Given the description of an element on the screen output the (x, y) to click on. 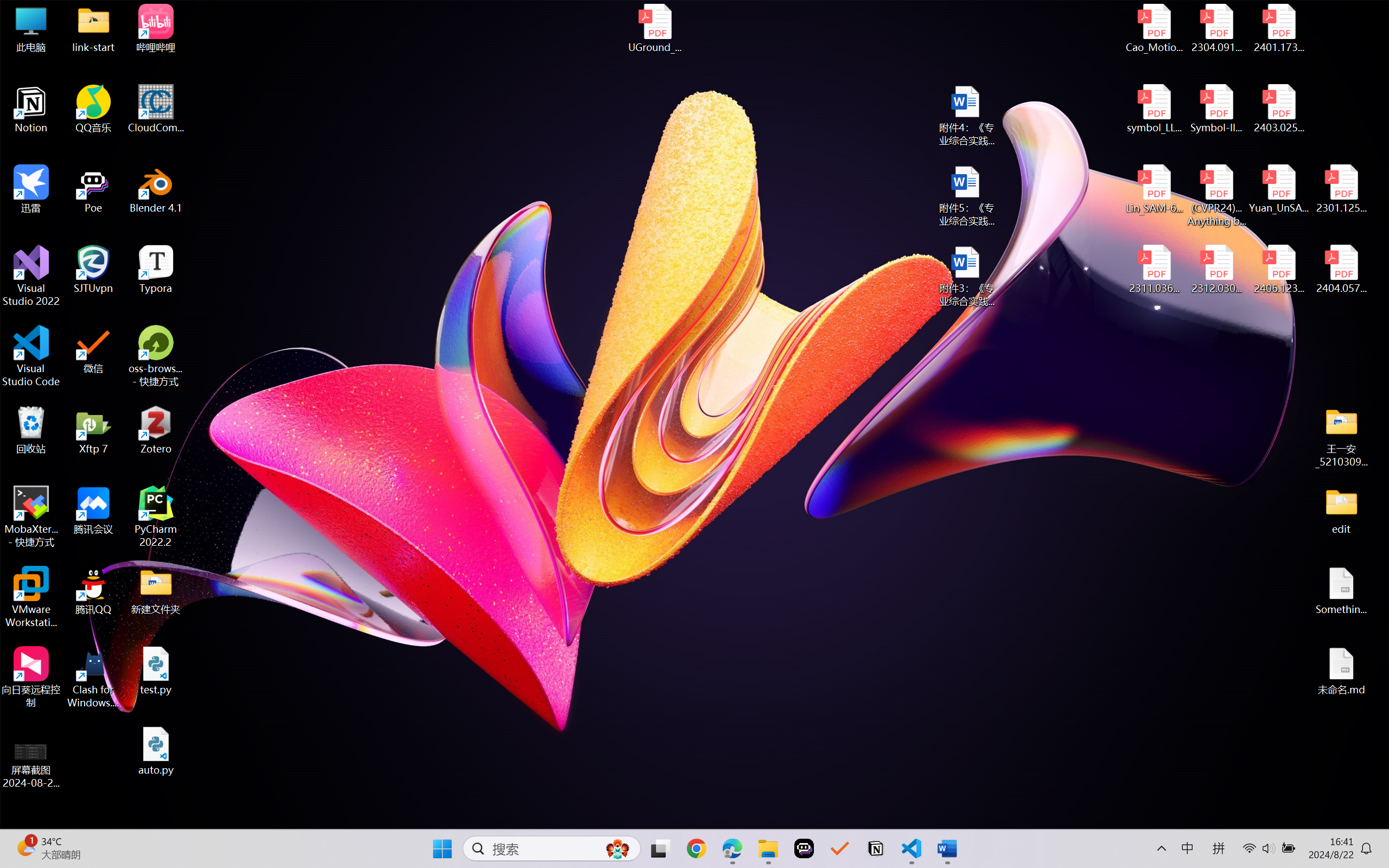
2301.12597v3.pdf (1340, 189)
Visual Studio 2022 (31, 276)
